Given the description of an element on the screen output the (x, y) to click on. 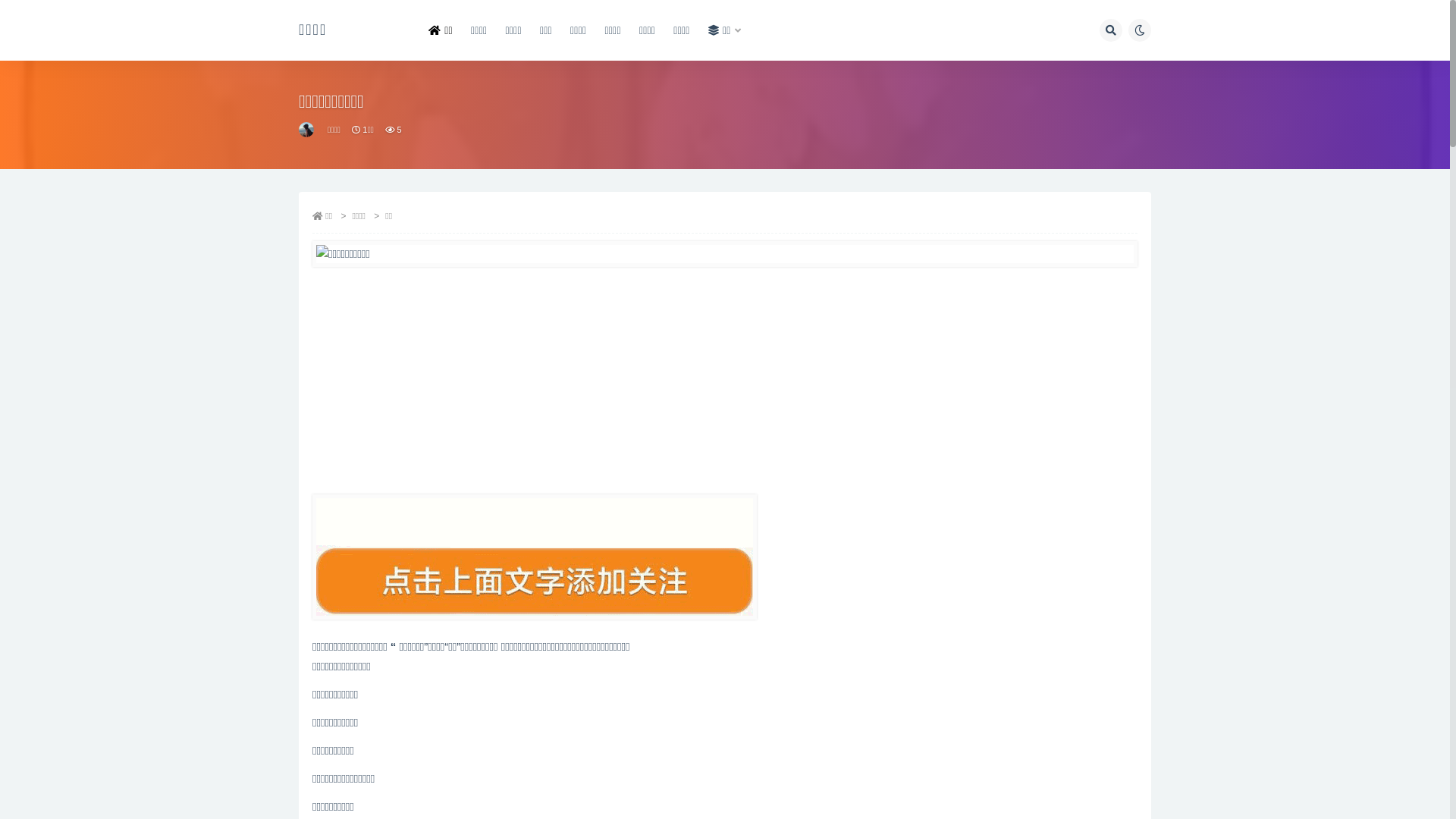
Advertisement Element type: hover (724, 380)
